Given the description of an element on the screen output the (x, y) to click on. 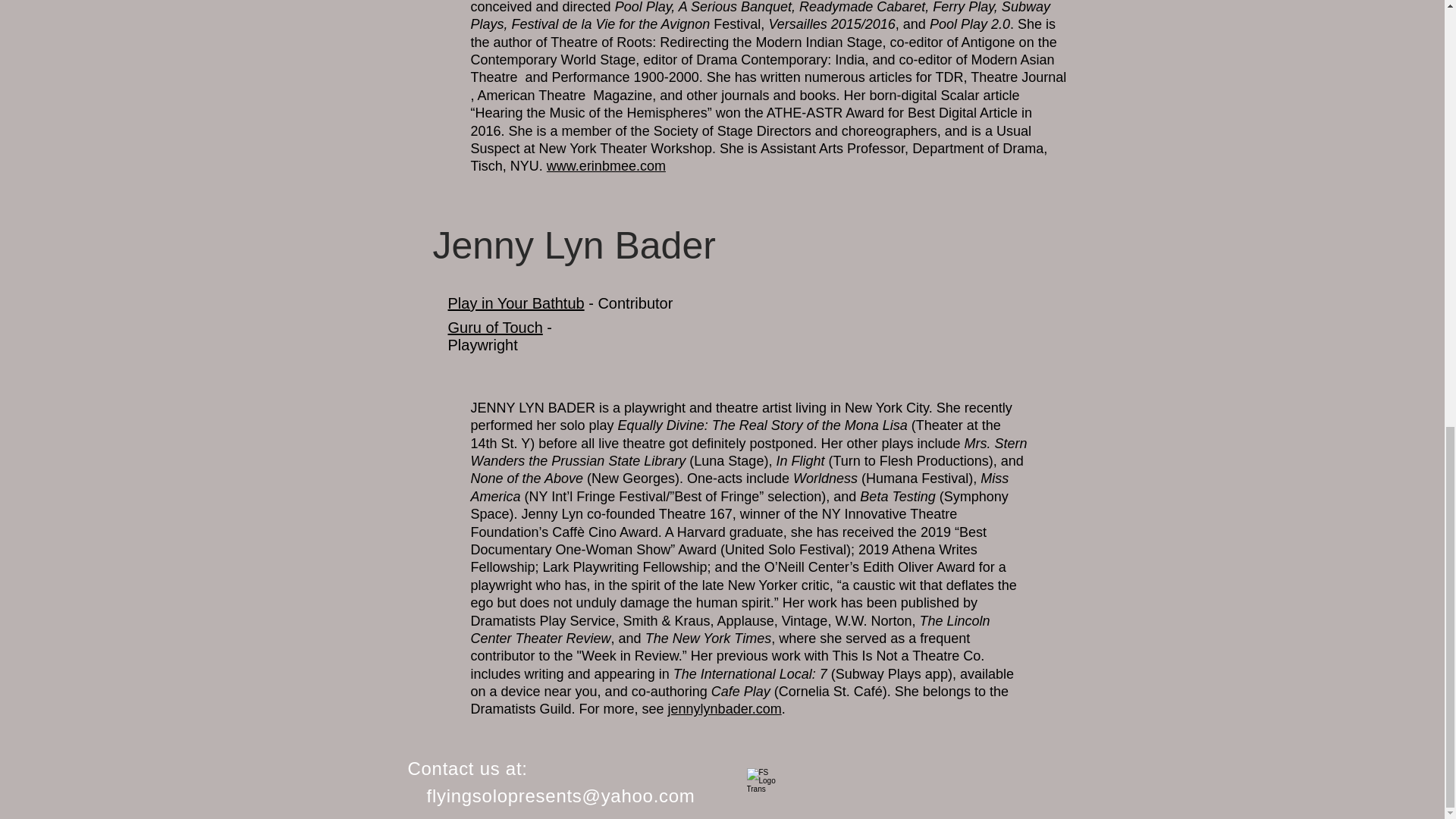
www.erinbmee.co (600, 165)
Play in Your Bathtub (514, 303)
Guru of Touch (493, 327)
jennylynbader.com (724, 708)
